Given the description of an element on the screen output the (x, y) to click on. 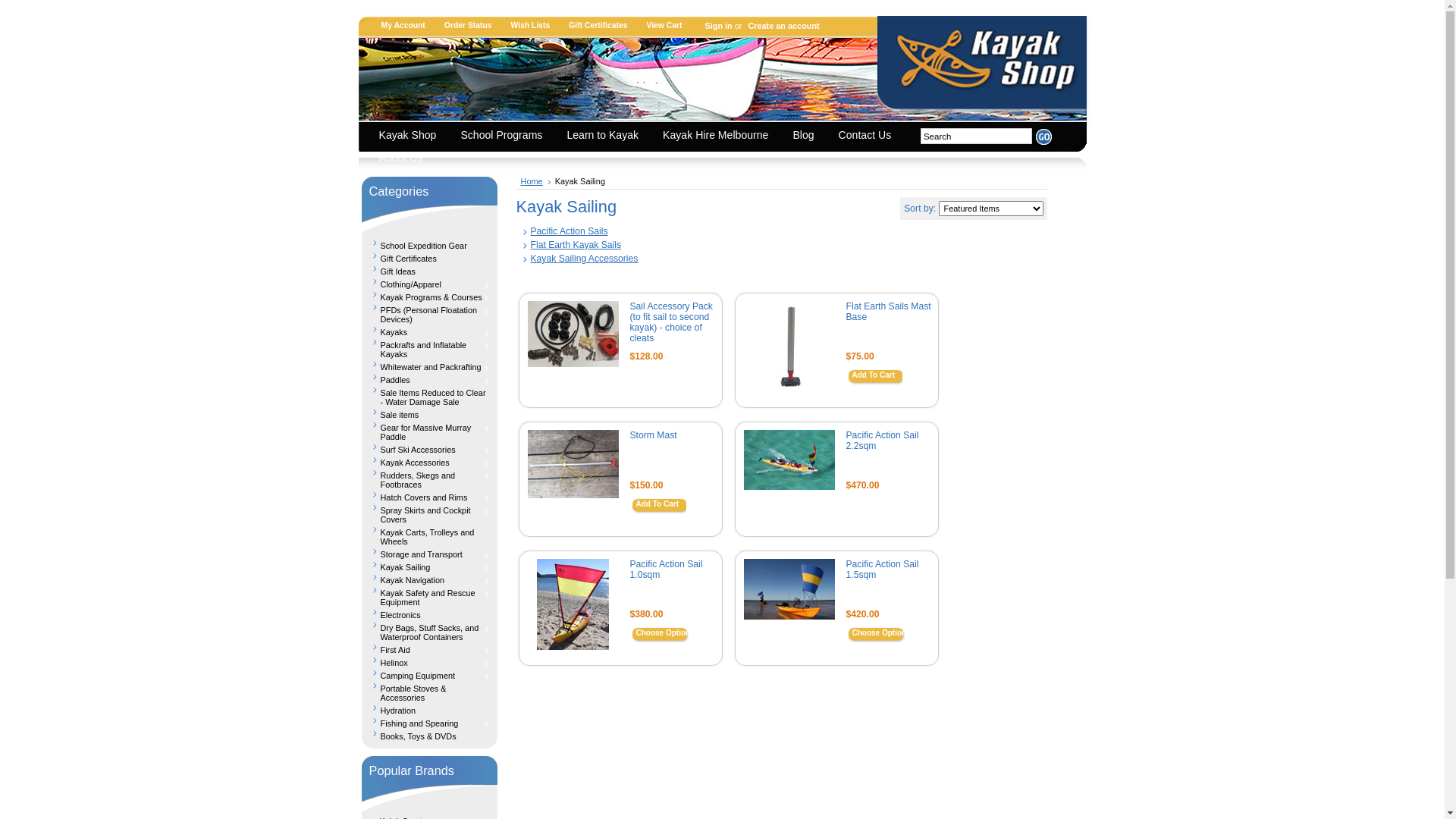
Pacific Action Sails Element type: text (569, 230)
Electronics Element type: text (428, 612)
Kayak Hire Melbourne Element type: text (719, 136)
Gift Ideas Element type: text (428, 269)
Pacific Action Sail 1.5sqm Element type: text (882, 569)
Pacific Action Sail 1.0sqm Element type: text (665, 569)
Order Status Element type: text (473, 25)
Create an account Element type: text (781, 25)
Home Element type: text (534, 180)
School Expedition Gear Element type: text (428, 243)
Choose Options Element type: text (882, 635)
Portable Stoves & Accessories Element type: text (428, 691)
Sale items Element type: text (428, 412)
Storm Mast Element type: text (652, 434)
Blog Element type: text (806, 136)
Flat Earth Sails Mast Base Element type: text (888, 311)
Add To Cart Element type: text (874, 377)
Books, Toys & DVDs Element type: text (428, 734)
About Us Element type: text (404, 158)
Add To Cart Element type: text (657, 506)
Sale Items Reduced to Clear - Water Damage Sale Element type: text (428, 395)
Pacific Action Sail 2.2sqm Element type: text (882, 440)
Choose Options Element type: text (665, 635)
My Account Element type: text (408, 25)
Contact Us Element type: text (868, 136)
Learn to Kayak Element type: text (605, 136)
Sign in Element type: text (715, 25)
Flat Earth Kayak Sails Element type: text (575, 244)
Kayak Carts, Trolleys and Wheels Element type: text (428, 535)
Kayak Shop Element type: text (411, 136)
School Programs Element type: text (504, 136)
Gift Certificates Element type: text (603, 25)
Kayak Sailing Accessories Element type: text (584, 258)
Hydration Element type: text (428, 708)
View Cart Element type: text (669, 25)
Wish Lists Element type: text (536, 25)
Gift Certificates Element type: text (428, 256)
